Given the description of an element on the screen output the (x, y) to click on. 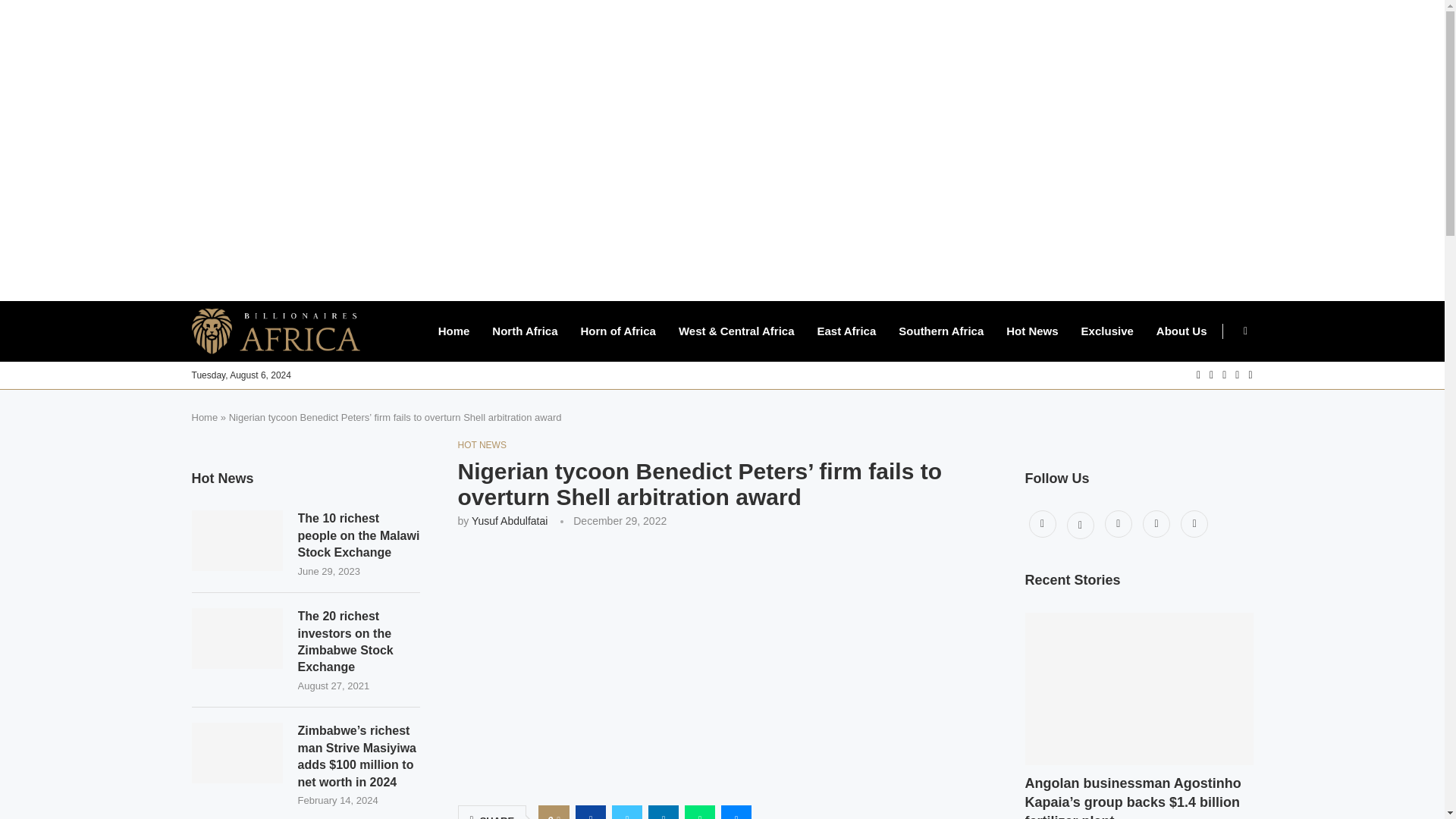
Hot News (1032, 330)
North Africa (524, 330)
Southern Africa (941, 330)
East Africa (846, 330)
Horn of Africa (617, 330)
Benedict Peters (722, 665)
Exclusive (1107, 330)
About Us (1181, 330)
